Given the description of an element on the screen output the (x, y) to click on. 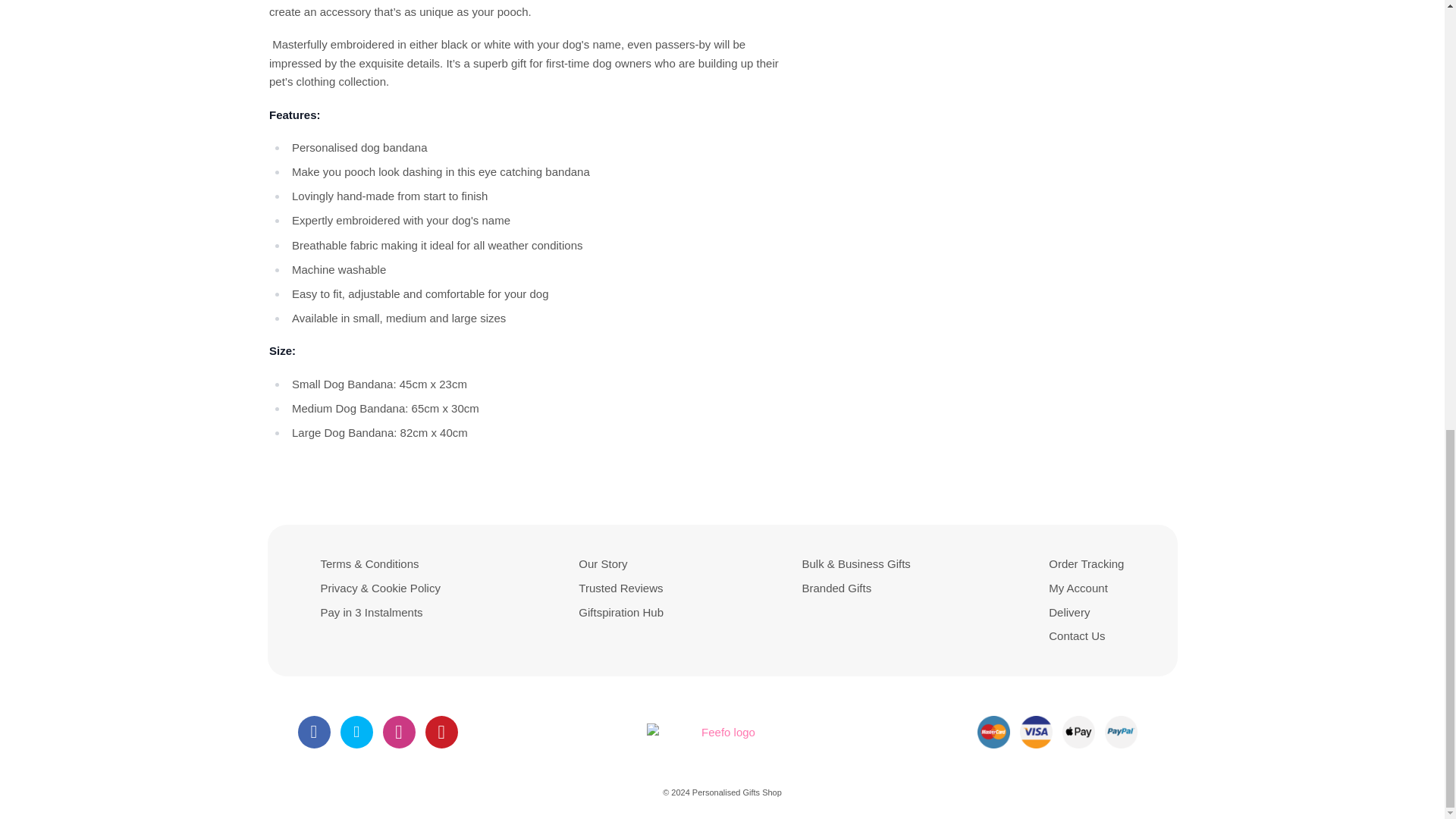
Trusted Reviews (620, 587)
Our Blog (620, 612)
About Us (602, 563)
Personalised Gifts Shop Reviews (620, 587)
Our Story (602, 563)
Giftspiration Hub (620, 612)
pay in 3 instalments (371, 612)
Pay in 3 Instalments (371, 612)
